Given the description of an element on the screen output the (x, y) to click on. 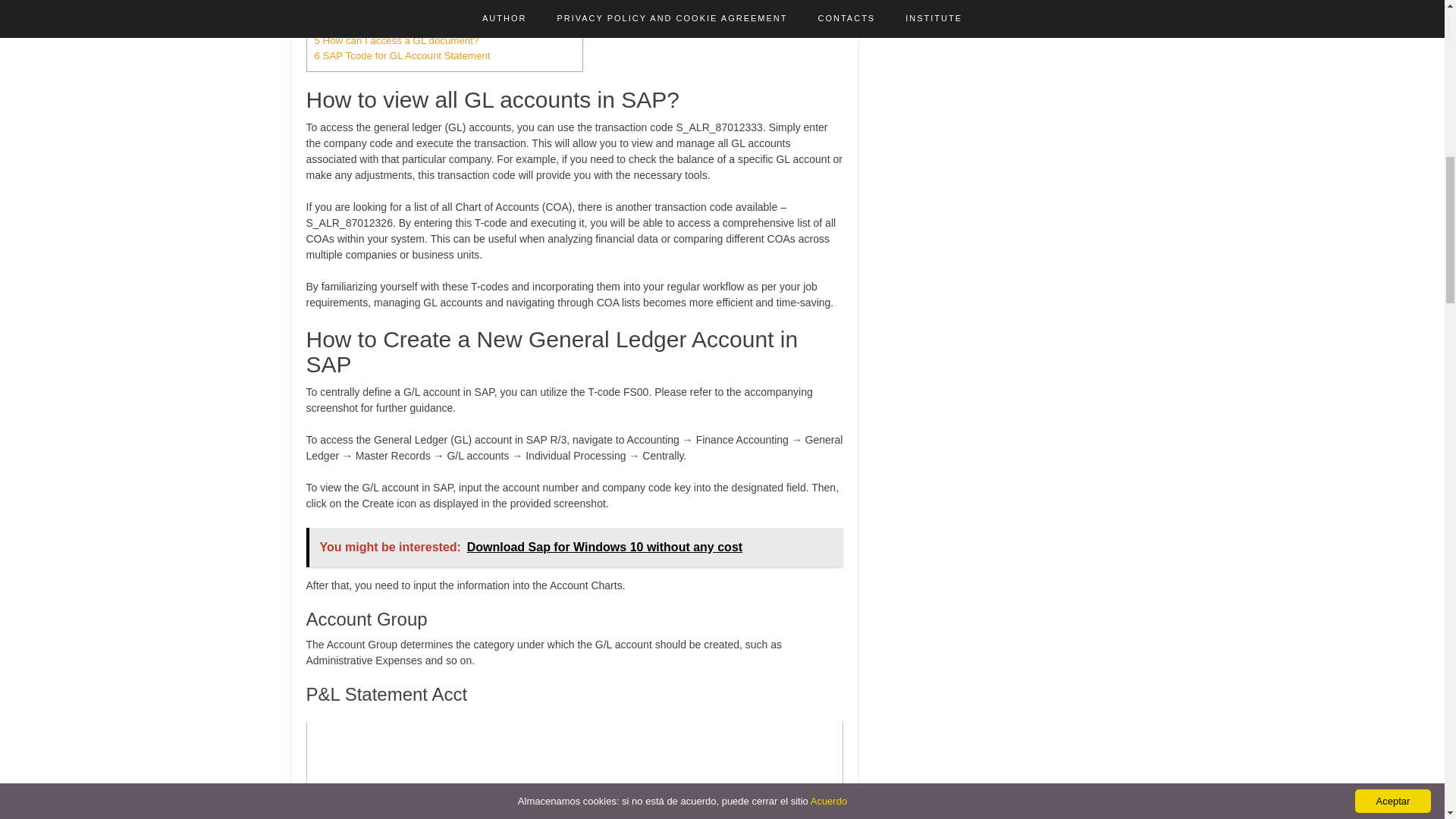
4 How can I check the GL balance in SAP? (410, 25)
3 How can I access a GL document in SAP? (413, 9)
5 How can I access a GL document? (396, 40)
6 SAP Tcode for GL Account Statement (401, 55)
